Given the description of an element on the screen output the (x, y) to click on. 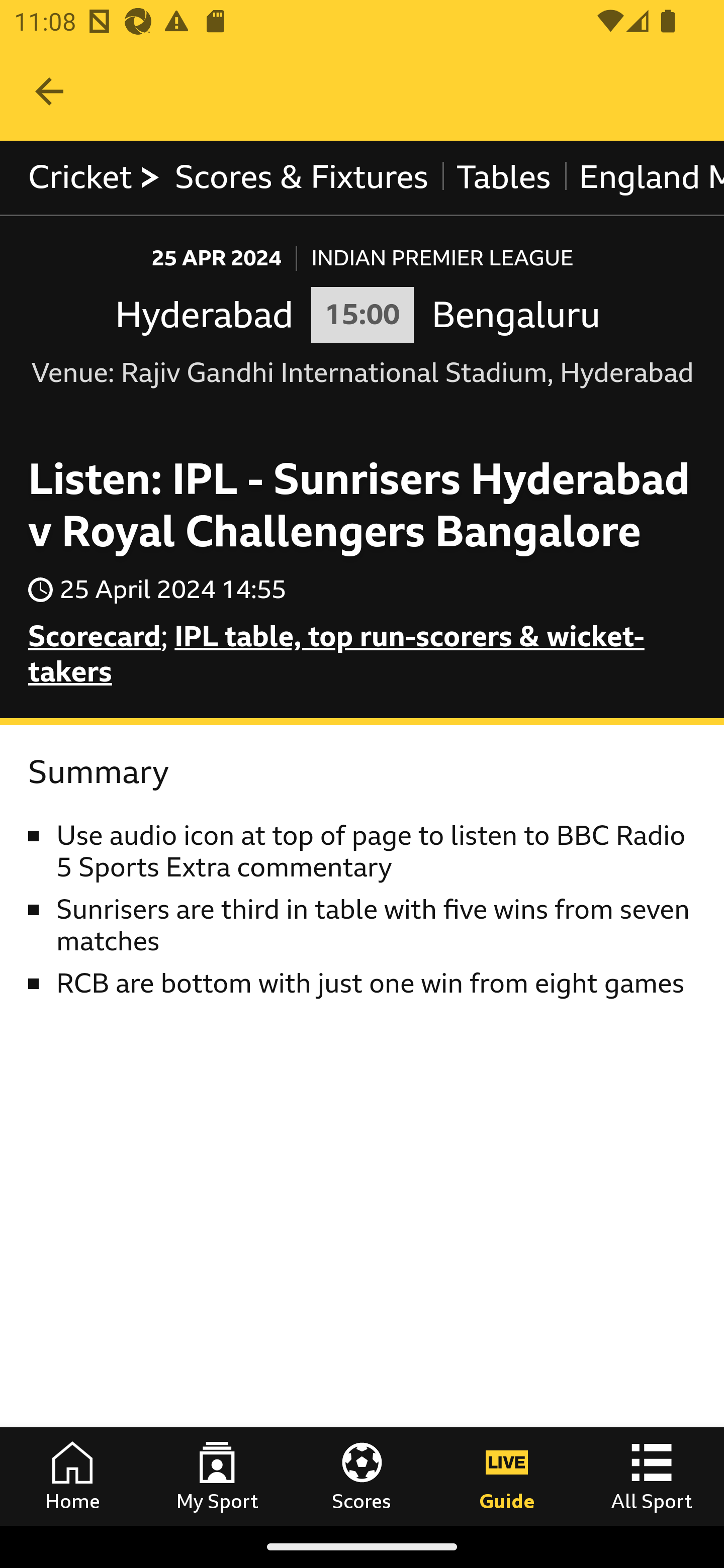
Navigate up (49, 91)
Cricket  (95, 177)
Scores & Fixtures (301, 177)
Tables (503, 177)
Scorecard (95, 636)
IPL table, top run-scorers & wicket-takers (336, 654)
Home (72, 1475)
My Sport (216, 1475)
Scores (361, 1475)
All Sport (651, 1475)
